Given the description of an element on the screen output the (x, y) to click on. 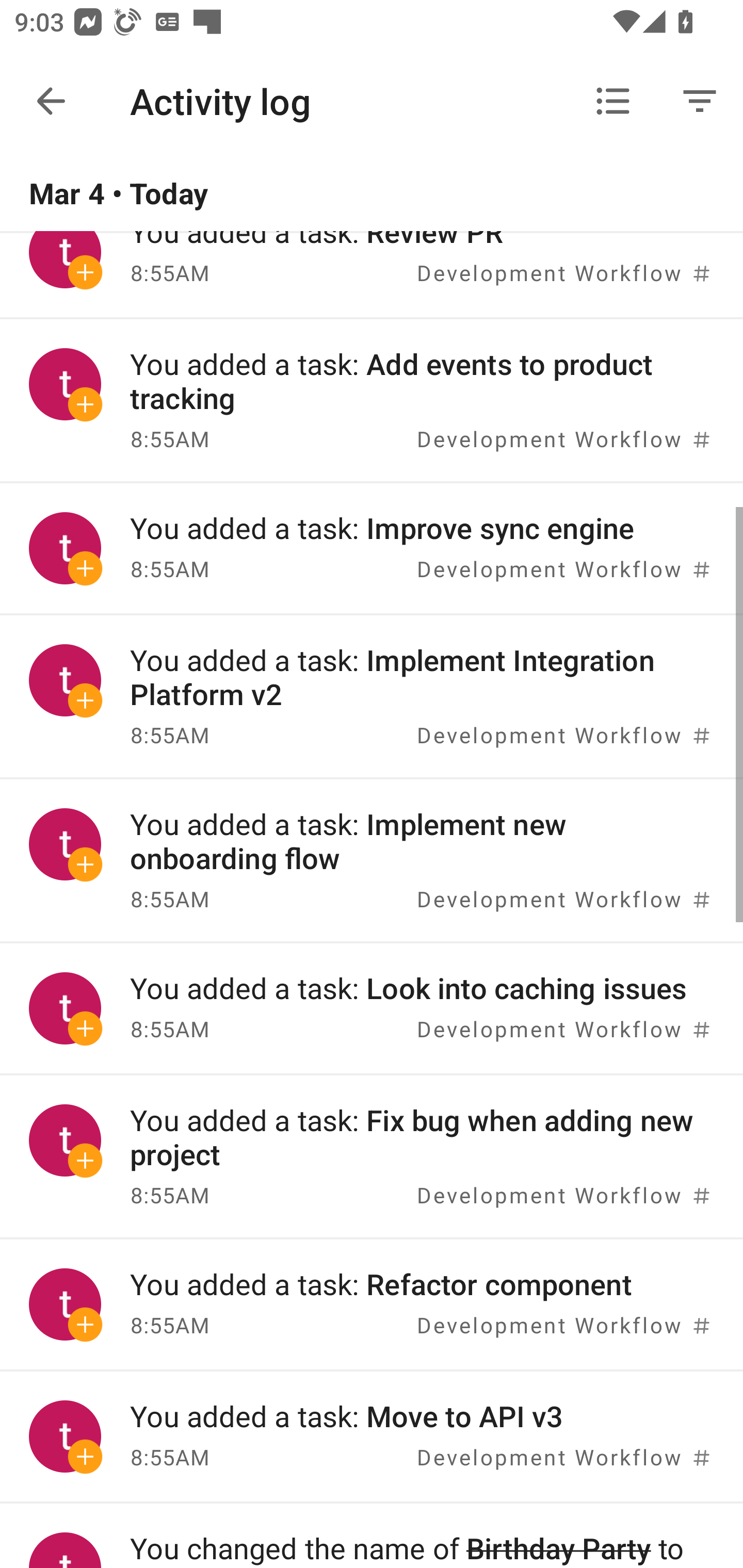
Navigate up (50, 101)
By project (612, 101)
Filter (699, 101)
Mar 4 • Today (371, 194)
